Given the description of an element on the screen output the (x, y) to click on. 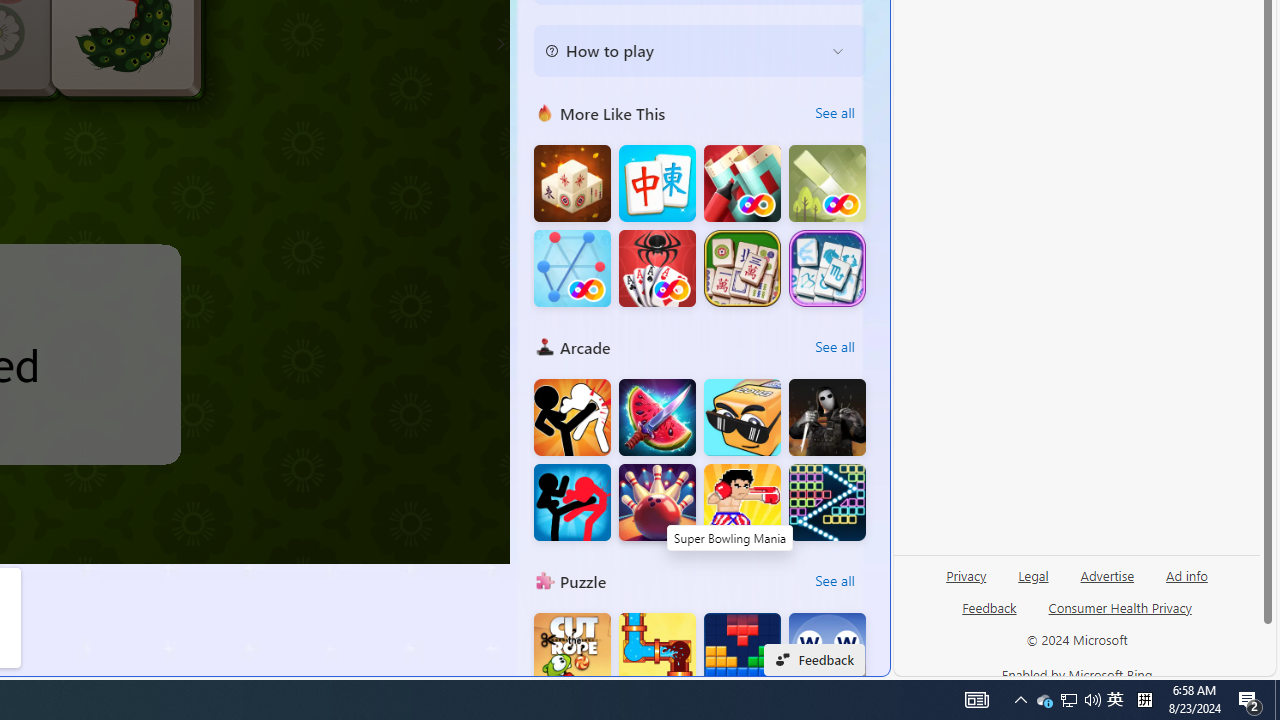
Consumer Health Privacy (1119, 607)
Class: control (499, 43)
Bricks Breaker Deluxe Crusher (827, 502)
Cubes2048 (742, 417)
Daily Mahjong (742, 268)
More Like This (544, 112)
Boxing fighter : Super punch (742, 502)
Streak FRVR (571, 268)
Cut the Rope (571, 651)
Hunter Hitman (827, 417)
